Given the description of an element on the screen output the (x, y) to click on. 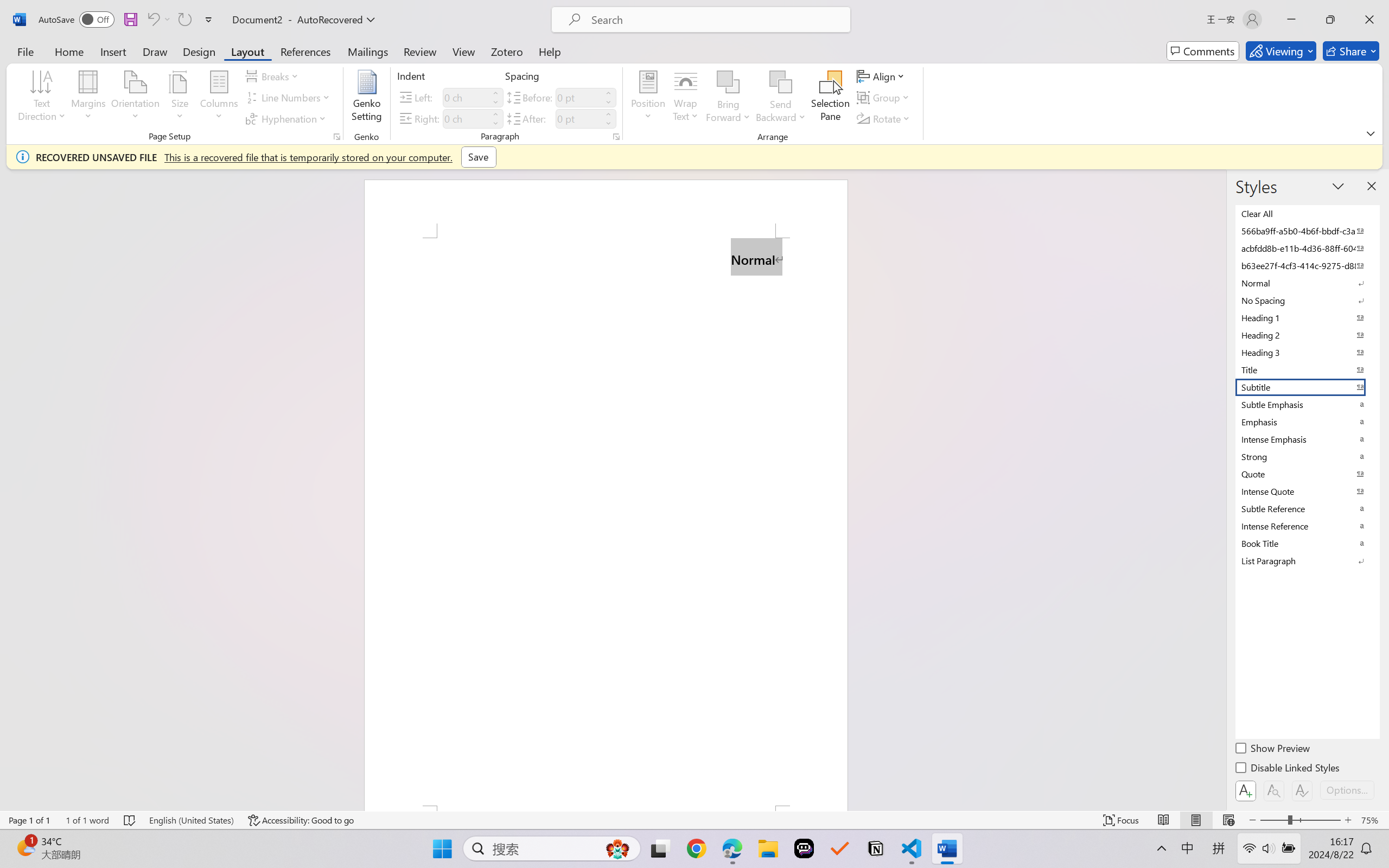
Zoom 75% (1372, 819)
Position (647, 97)
Margins (88, 97)
Intense Emphasis (1306, 438)
Can't Repeat (184, 19)
Group (884, 97)
Selection Pane... (830, 97)
Rotate (884, 118)
Mode (1280, 50)
b63ee27f-4cf3-414c-9275-d88e3f90795e (1306, 265)
Normal (1306, 282)
Emphasis (1306, 421)
